Given the description of an element on the screen output the (x, y) to click on. 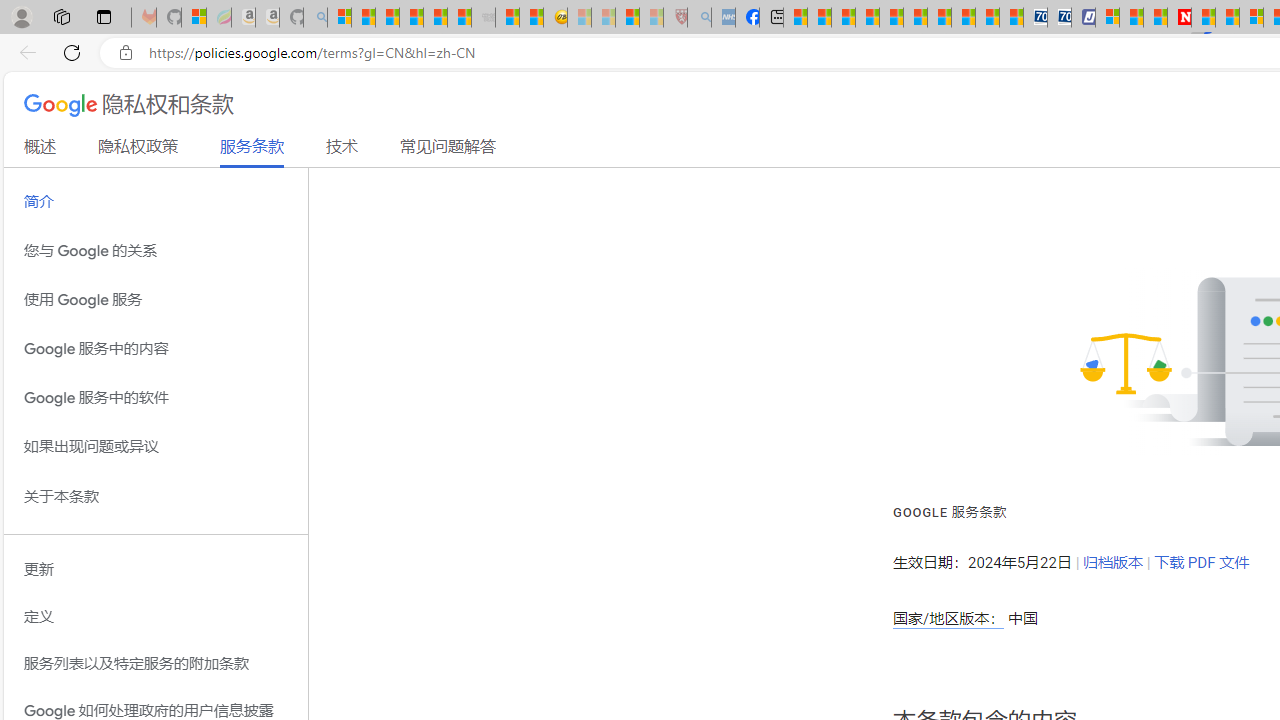
Newsweek - News, Analysis, Politics, Business, Technology (1179, 17)
New Report Confirms 2023 Was Record Hot | Watch (434, 17)
